Given the description of an element on the screen output the (x, y) to click on. 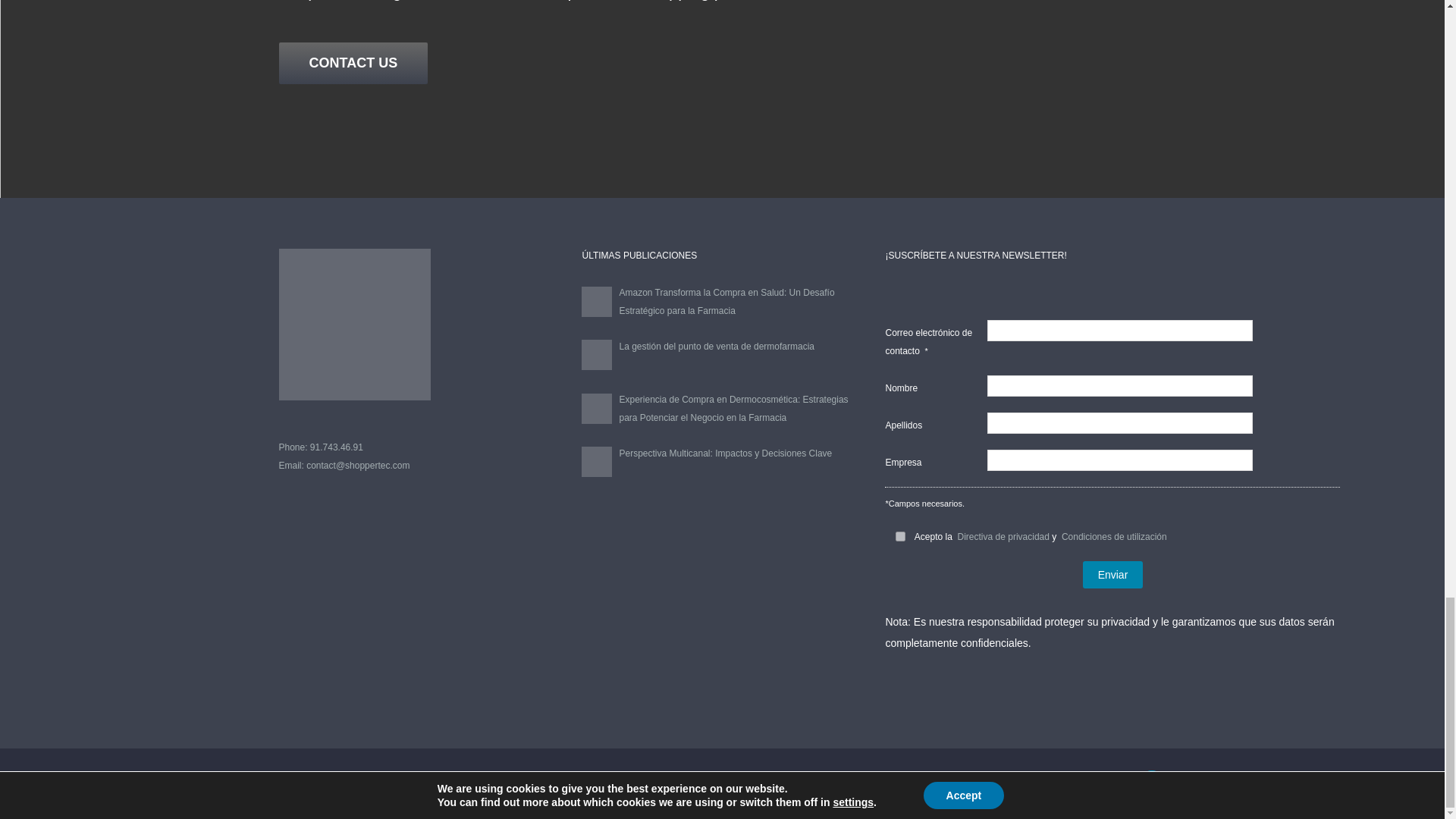
CONTACT US (353, 63)
Enviar (1112, 574)
